Given the description of an element on the screen output the (x, y) to click on. 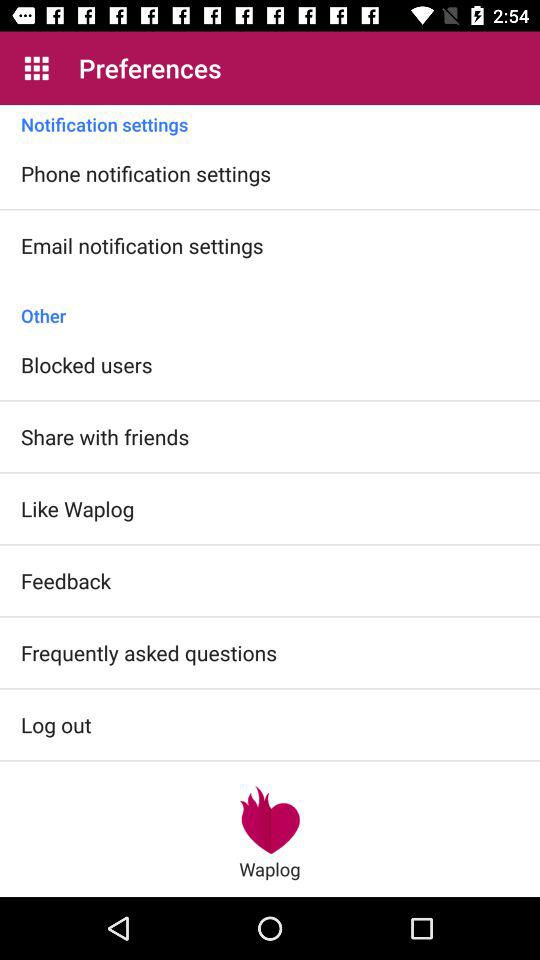
turn off icon to the left of the preferences app (36, 68)
